Given the description of an element on the screen output the (x, y) to click on. 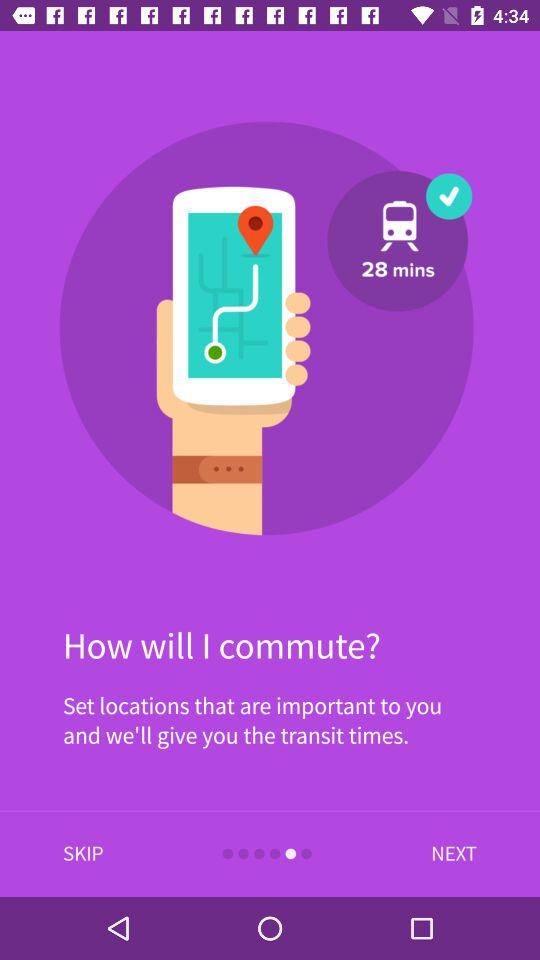
flip until the skip (83, 853)
